Given the description of an element on the screen output the (x, y) to click on. 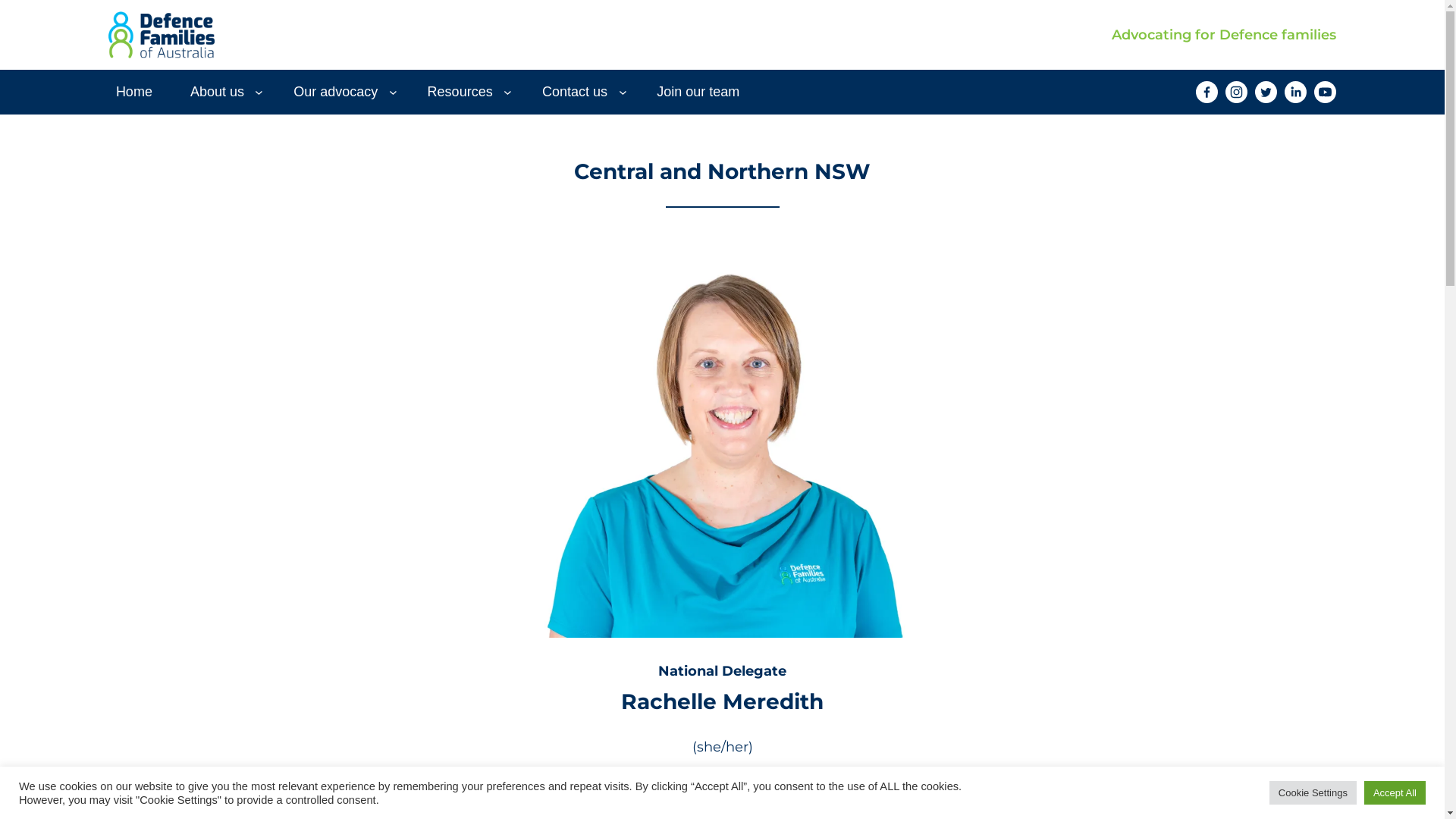
Contact us Element type: text (574, 91)
Our advocacy Element type: text (335, 91)
About us Element type: text (216, 91)
0418 728 859 Element type: text (721, 776)
Accept All Element type: text (1394, 792)
Cookie Settings Element type: text (1312, 792)
Resources Element type: text (460, 91)
Home Element type: text (134, 91)
Join our team Element type: text (697, 91)
